Given the description of an element on the screen output the (x, y) to click on. 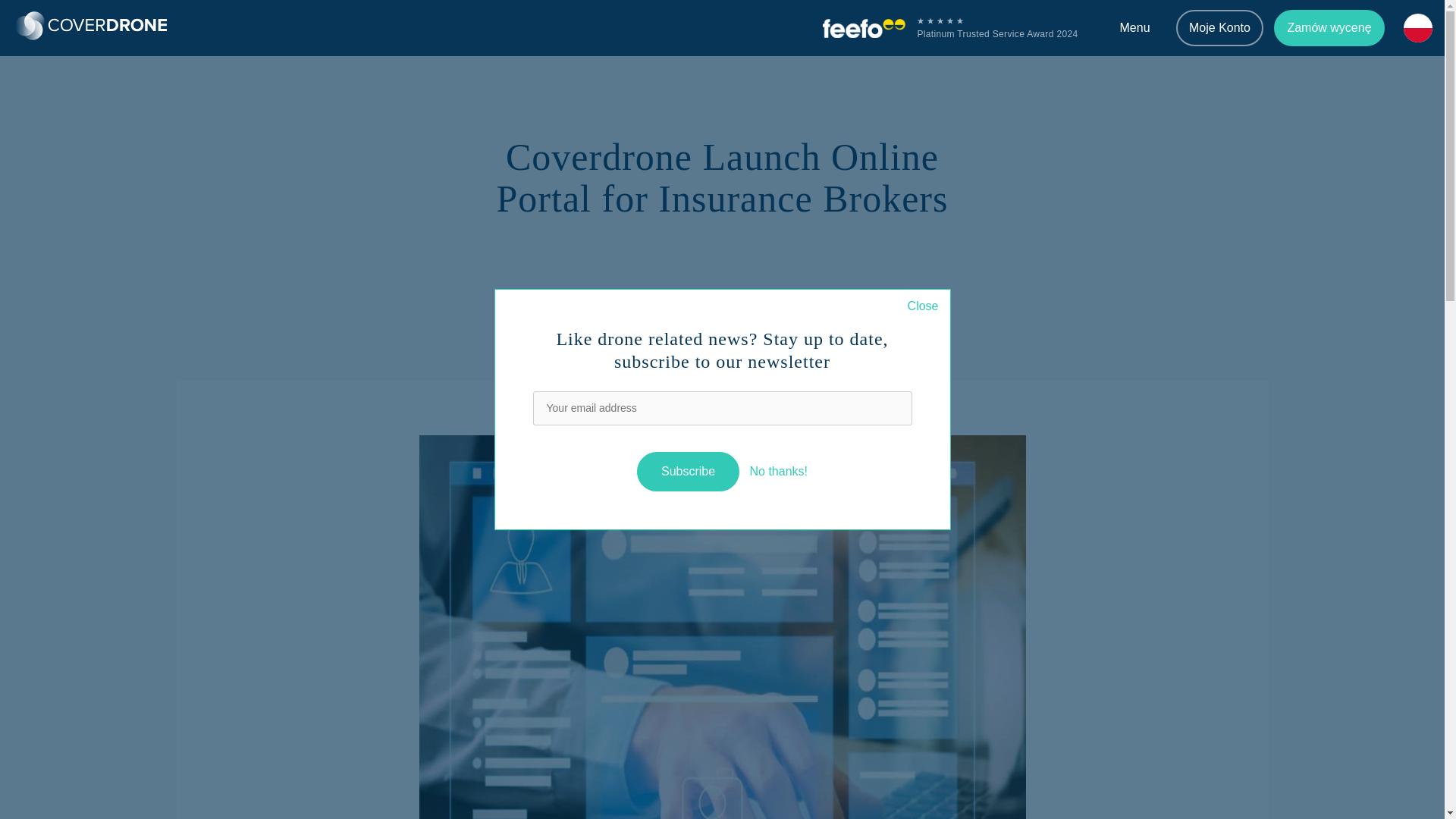
Close window (777, 471)
Menu (1134, 28)
Moje Konto (1219, 27)
Subscribe (688, 471)
Close window (923, 306)
Jess Brown (665, 295)
